Given the description of an element on the screen output the (x, y) to click on. 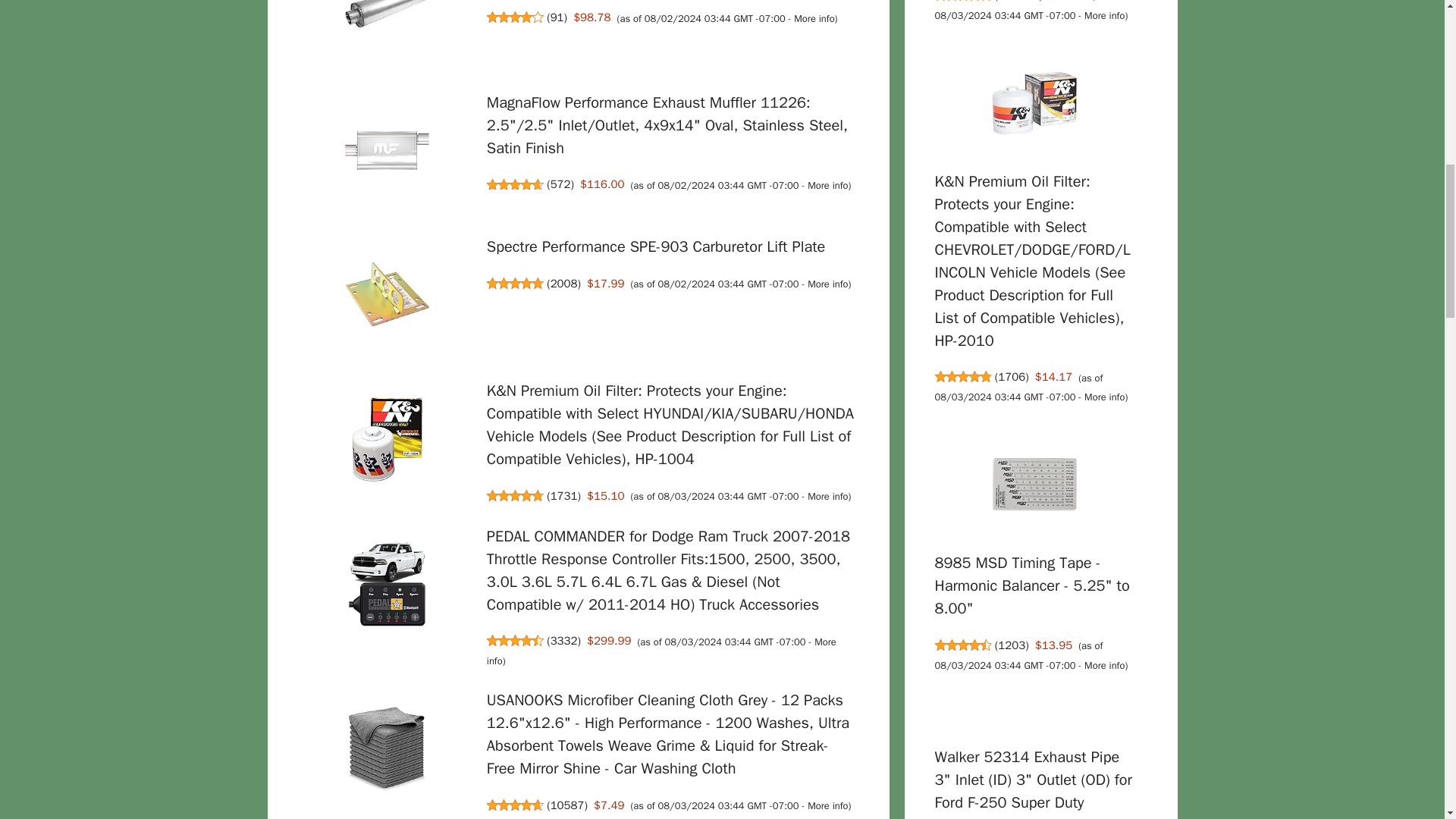
572 (560, 183)
Spectre Performance SPE-903 Carburetor Lift Plate:  (387, 297)
More info (827, 496)
91 (557, 17)
10587 (567, 805)
More info (827, 185)
3332 (564, 640)
More info (827, 806)
More info (813, 19)
Spectre Performance SPE-903 Carburetor Lift Plate (655, 246)
